Given the description of an element on the screen output the (x, y) to click on. 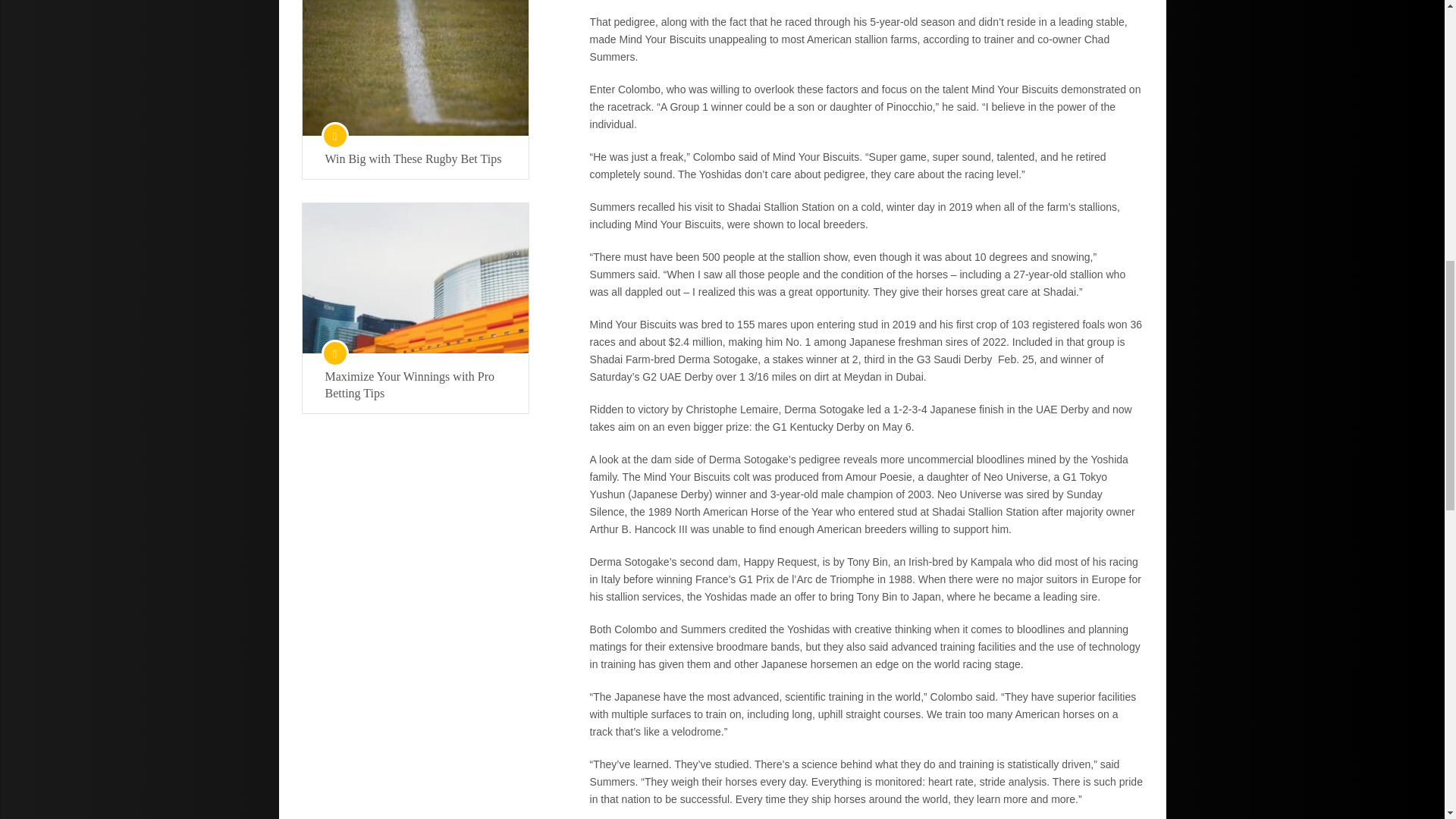
Win Big with These Rugby Bet Tips (414, 67)
Win Big with These Rugby Bet Tips (414, 158)
Maximize Your Winnings with Pro Betting Tips (414, 385)
